Given the description of an element on the screen output the (x, y) to click on. 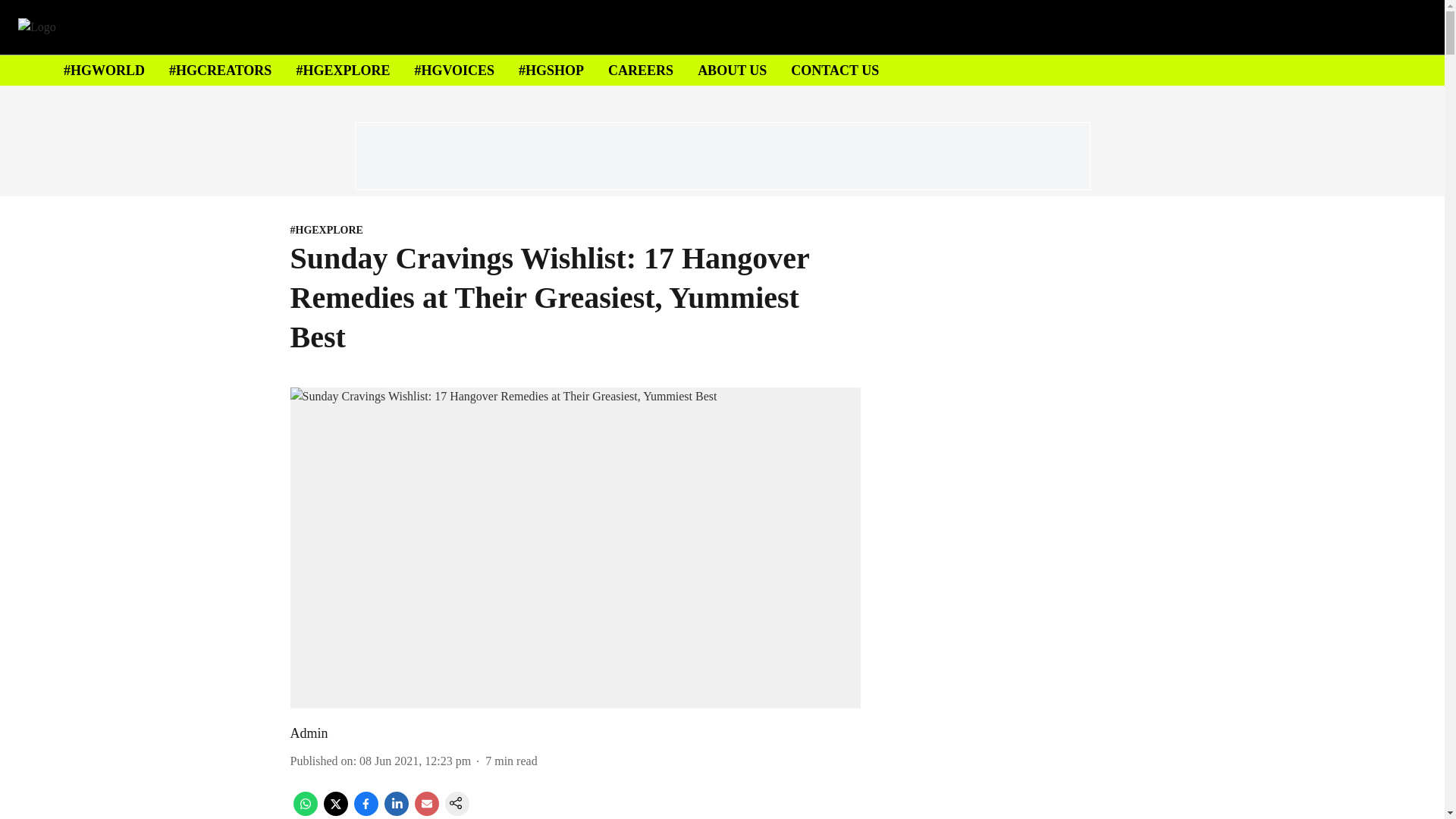
CAREERS (640, 70)
2021-06-08 12:23 (414, 760)
CONTACT US (834, 70)
Admin (308, 733)
ABOUT US (732, 70)
